Given the description of an element on the screen output the (x, y) to click on. 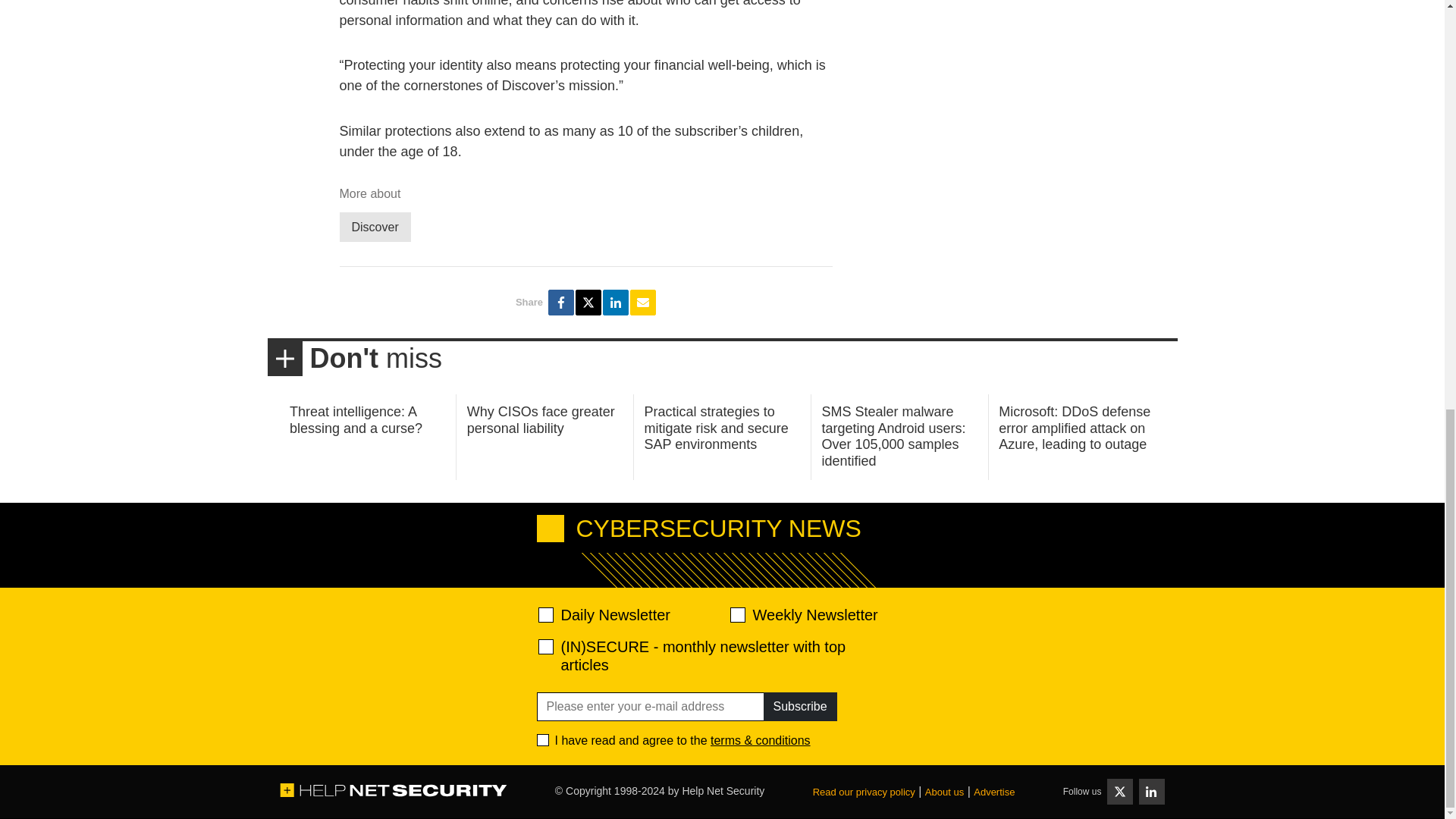
Discover (374, 226)
Why CISOs face greater personal liability (540, 419)
1 (542, 739)
Threat intelligence: A blessing and a curse? (355, 419)
520ac2f639 (545, 614)
Discover (374, 226)
28abe5d9ef (545, 646)
d2d471aafa (736, 614)
